Given the description of an element on the screen output the (x, y) to click on. 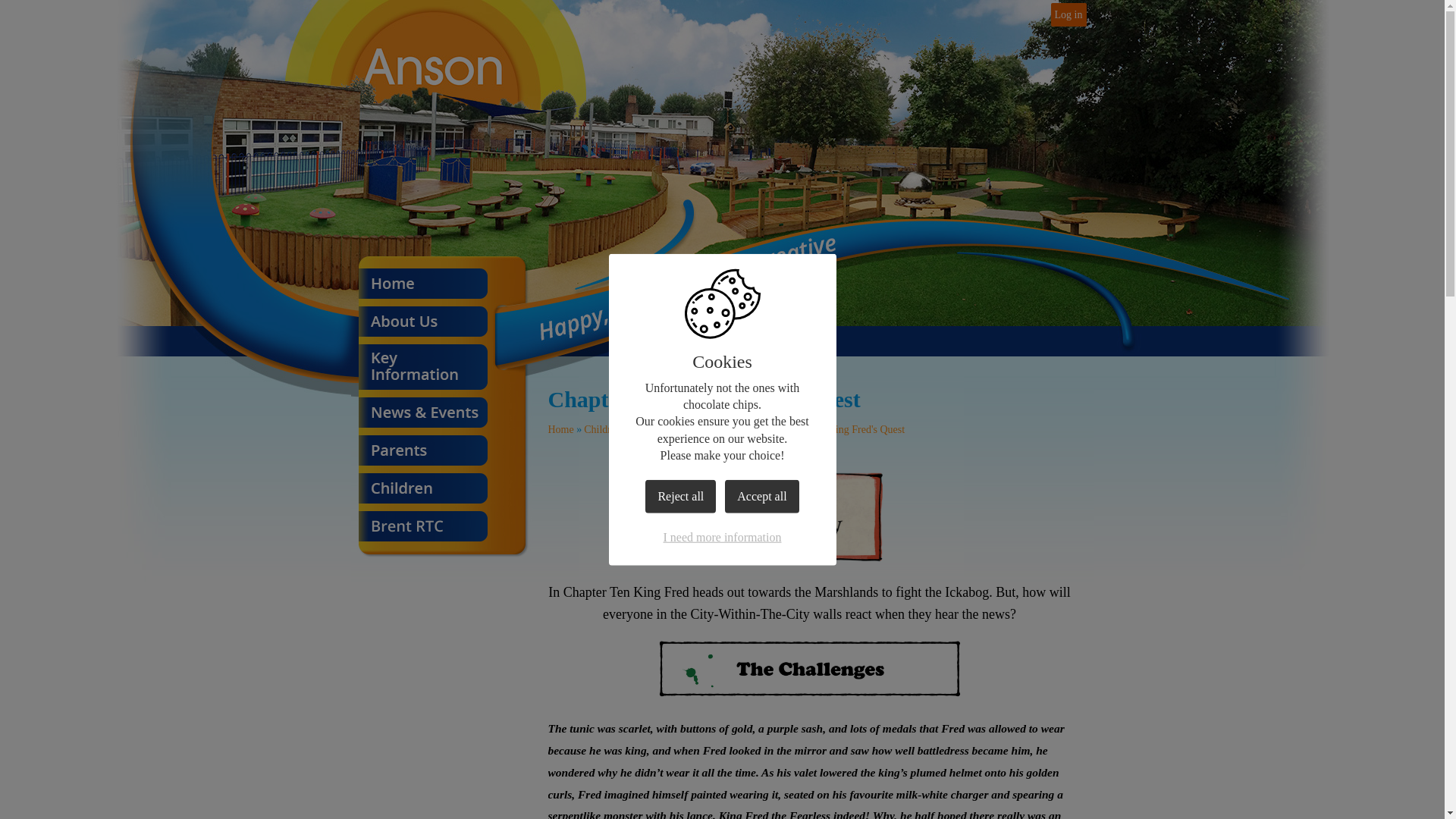
Home (422, 287)
Chapter Ten: King Fred's Quest (837, 429)
Home Page (433, 57)
Key Information (422, 370)
Log in (1068, 14)
Other Learning (664, 429)
Children (602, 429)
About Us (422, 324)
Home (560, 429)
The Ickabog (733, 429)
